Given the description of an element on the screen output the (x, y) to click on. 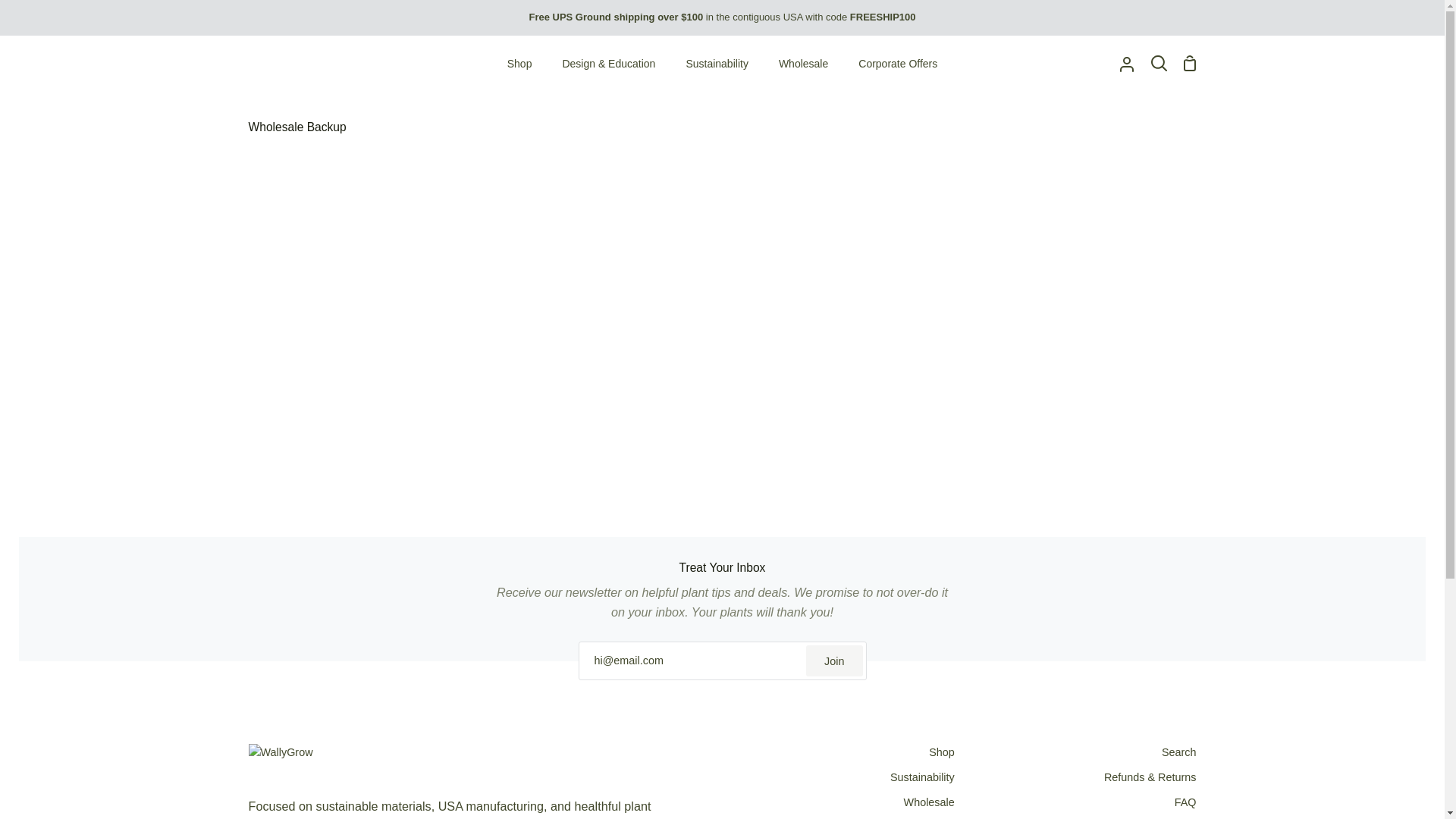
Shop (519, 63)
